Given the description of an element on the screen output the (x, y) to click on. 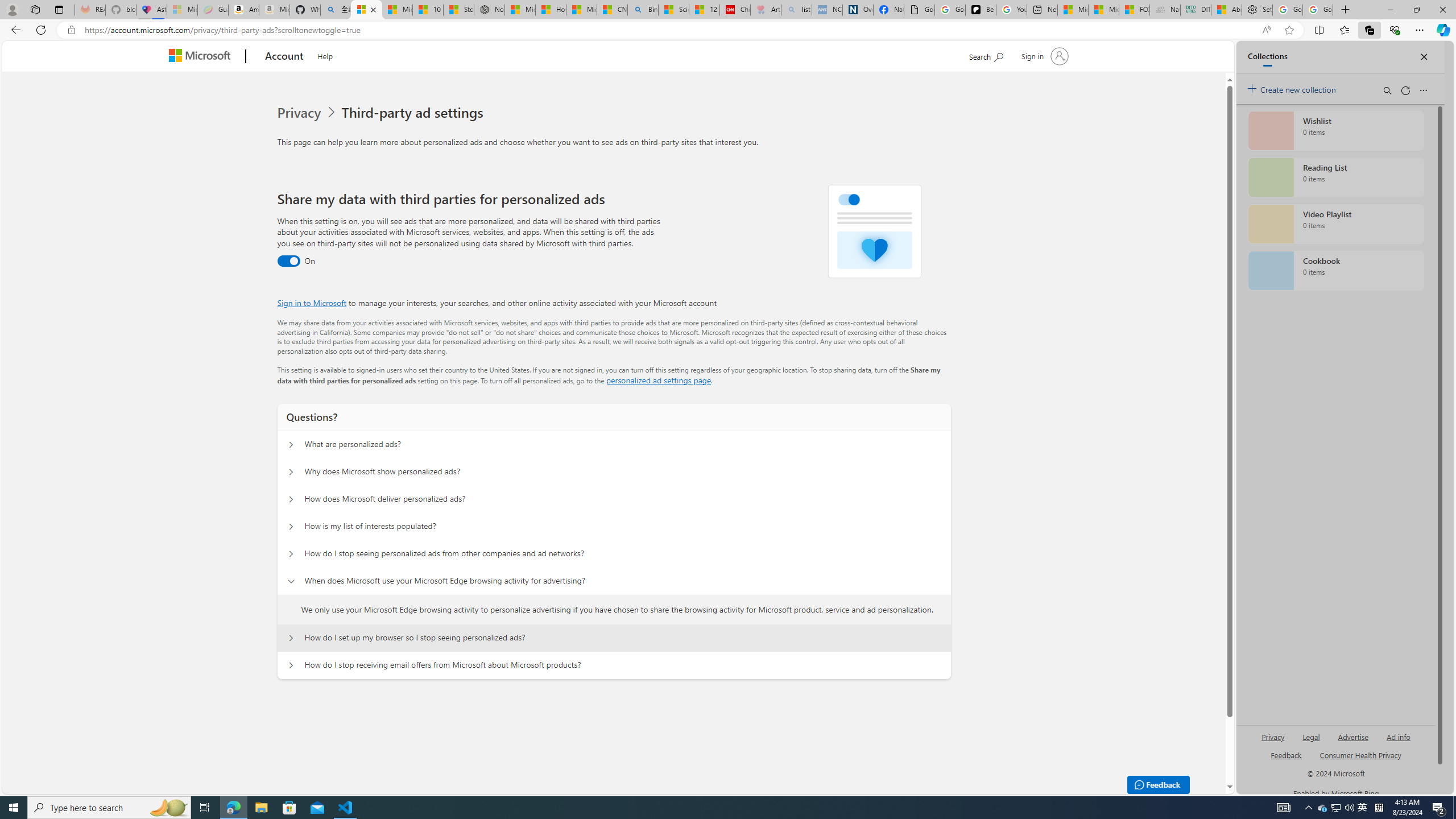
Asthma Inhalers: Names and Types (151, 9)
Microsoft (202, 56)
How I Got Rid of Microsoft Edge's Unnecessary Features (549, 9)
FOX News - MSN (1133, 9)
Help (325, 54)
Questions? How does Microsoft deliver personalized ads? (290, 499)
personalized ad settings page (658, 379)
Sign in to Microsoft (311, 302)
